Given the description of an element on the screen output the (x, y) to click on. 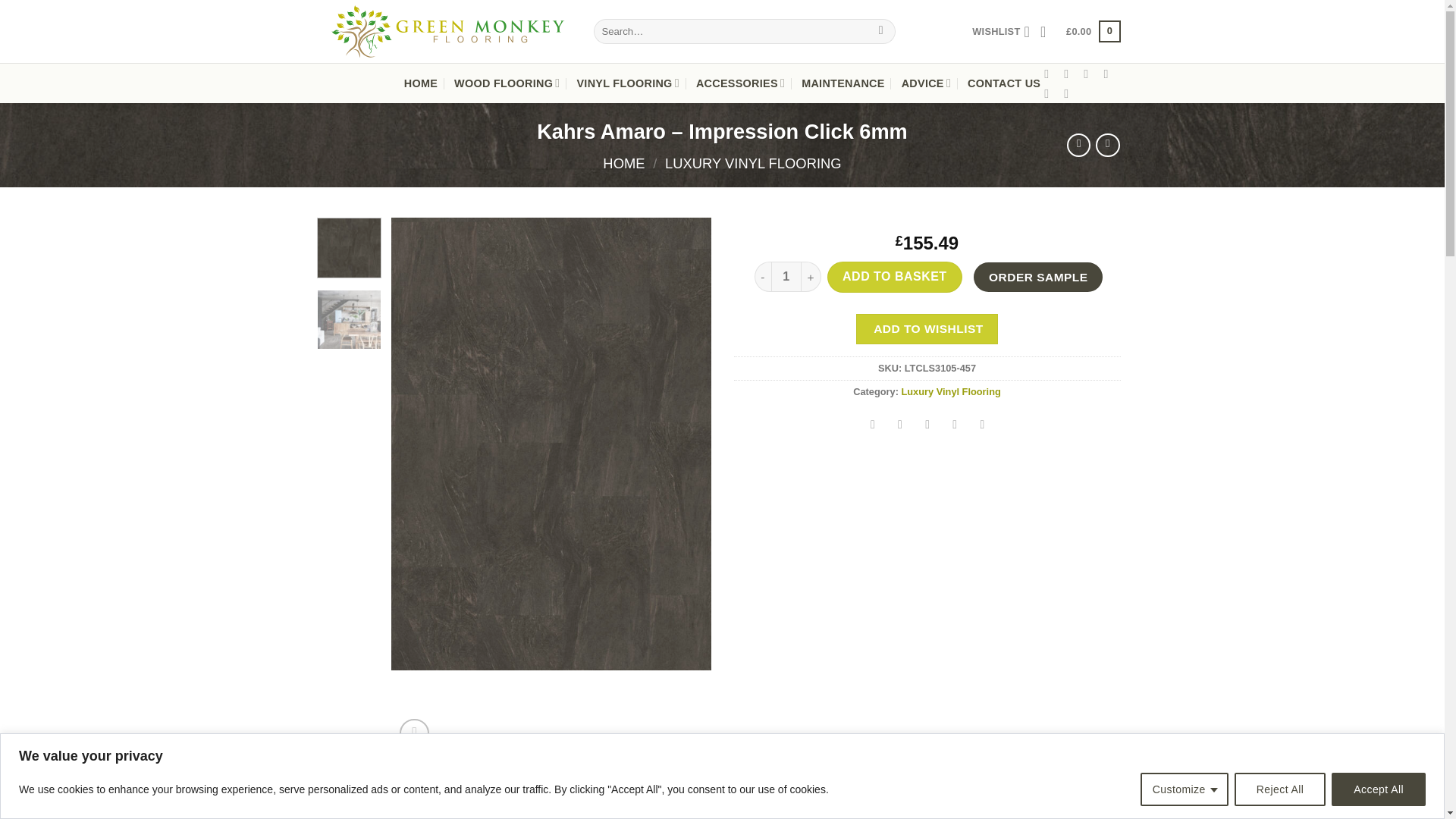
Basket (1092, 31)
Follow on LinkedIn (1069, 92)
1 (786, 276)
Customize (1184, 788)
Accept All (1378, 788)
Follow on Instagram (1069, 73)
- (762, 276)
Share on Twitter (900, 426)
WOOD FLOORING (506, 83)
Share on Facebook (872, 426)
Search (880, 31)
Pin on Pinterest (955, 426)
Follow on Facebook (1050, 73)
Reject All (1280, 788)
Send us an email (1109, 73)
